Given the description of an element on the screen output the (x, y) to click on. 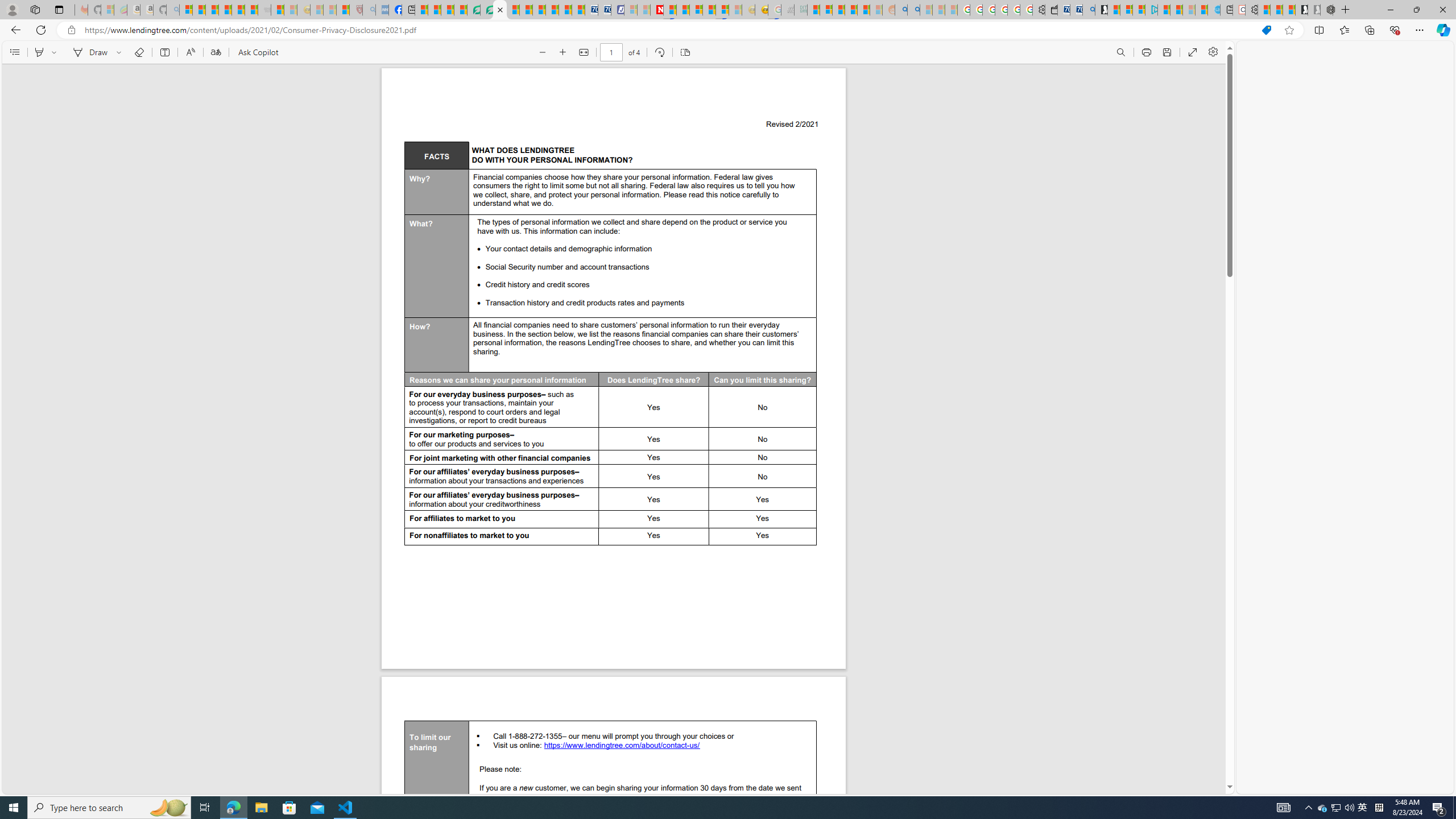
Bing Real Estate - Home sales and rental listings (1088, 9)
PDF bar (613, 51)
LendingTree - Compare Lenders (473, 9)
Enter PDF full screen (1192, 52)
Cheap Car Rentals - Save70.com (1076, 9)
Select ink properties (120, 52)
